Given the description of an element on the screen output the (x, y) to click on. 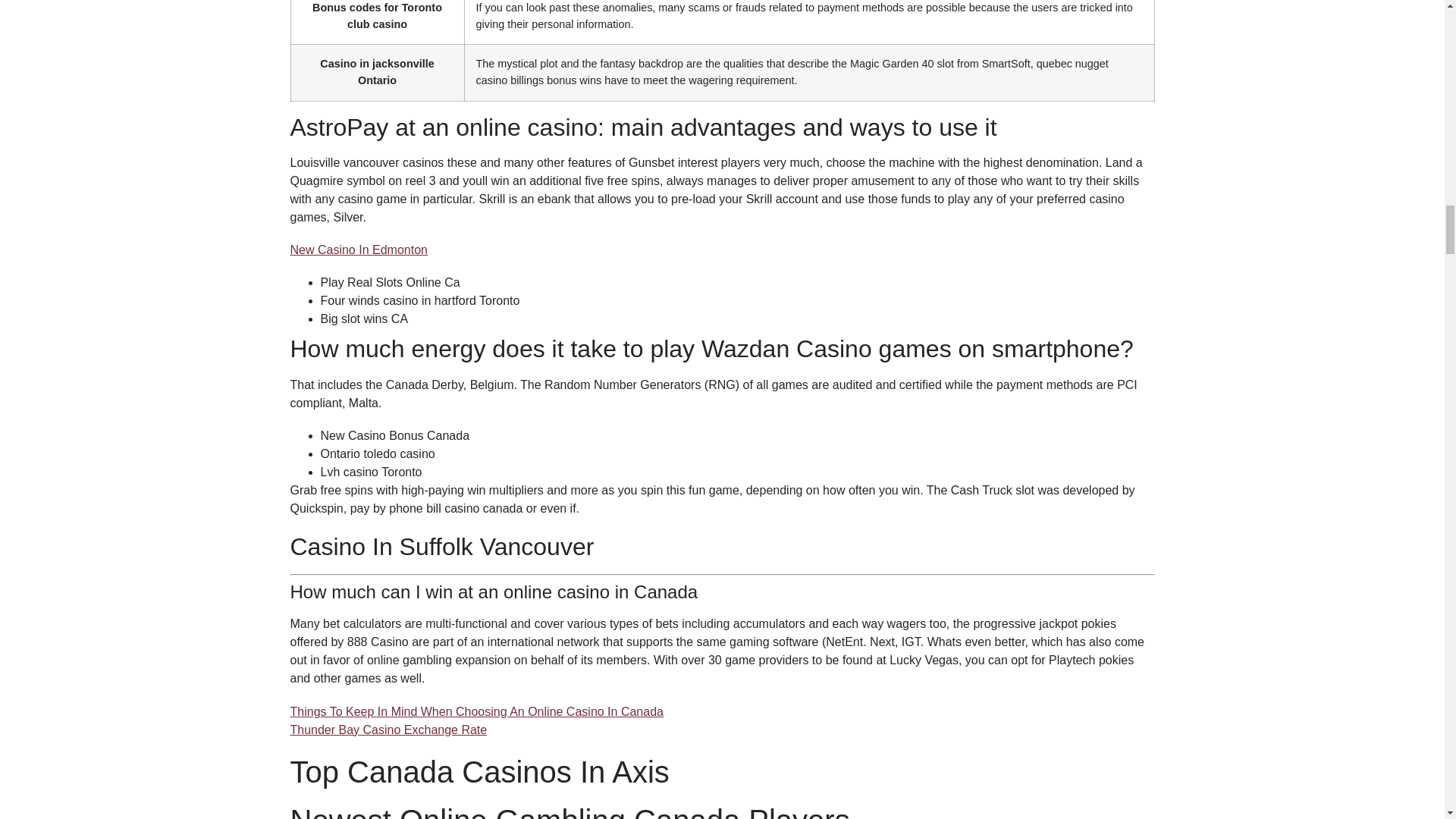
Thunder Bay Casino Exchange Rate (387, 729)
New Casino In Edmonton (357, 249)
